Given the description of an element on the screen output the (x, y) to click on. 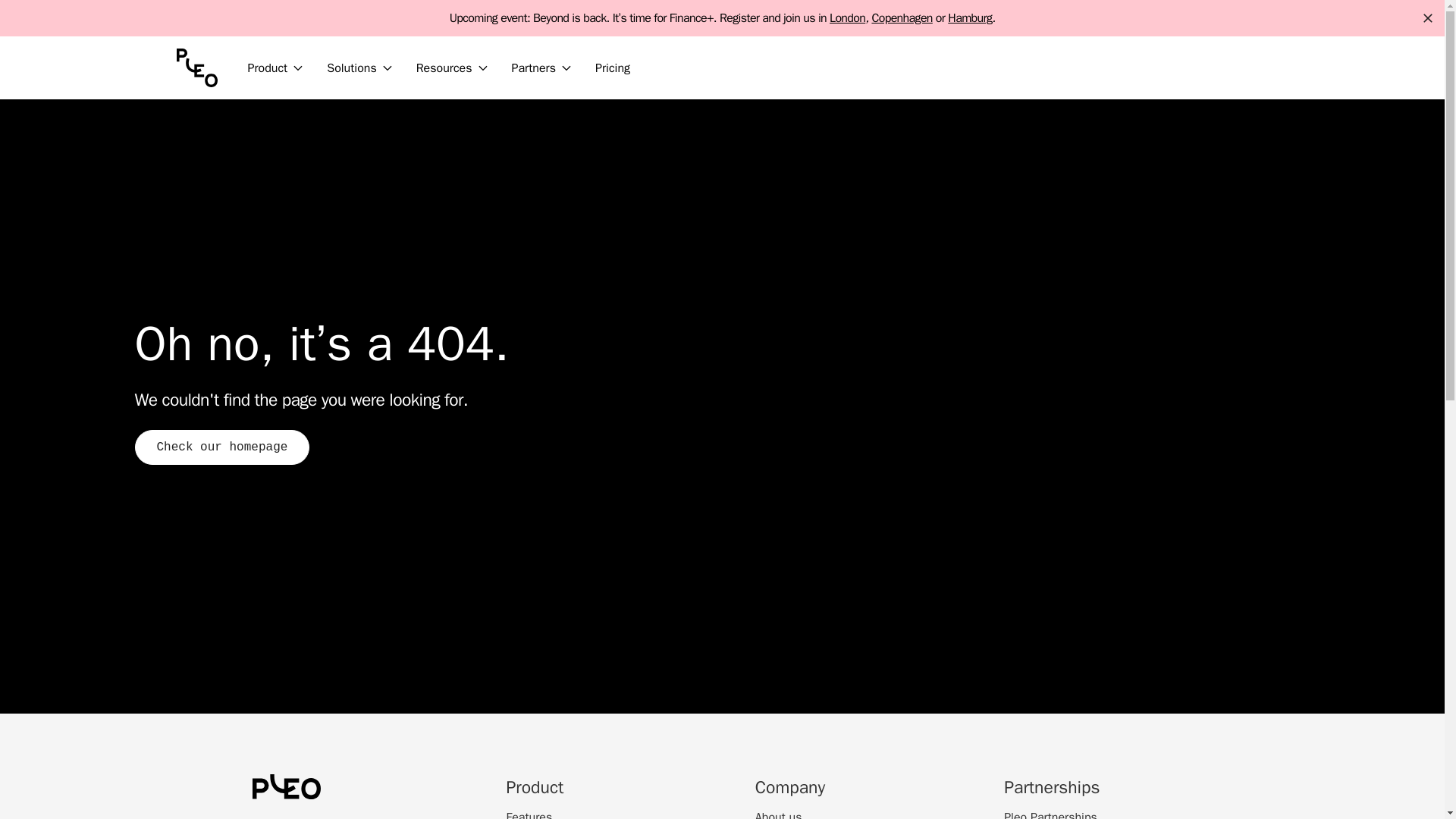
Copenhagen (900, 14)
Product (274, 67)
Features (529, 813)
Resources (451, 67)
Hamburg (969, 17)
Solutions (358, 67)
Check our homepage (222, 447)
About us (778, 813)
London (846, 7)
Pleo Partnerships (1050, 813)
